Given the description of an element on the screen output the (x, y) to click on. 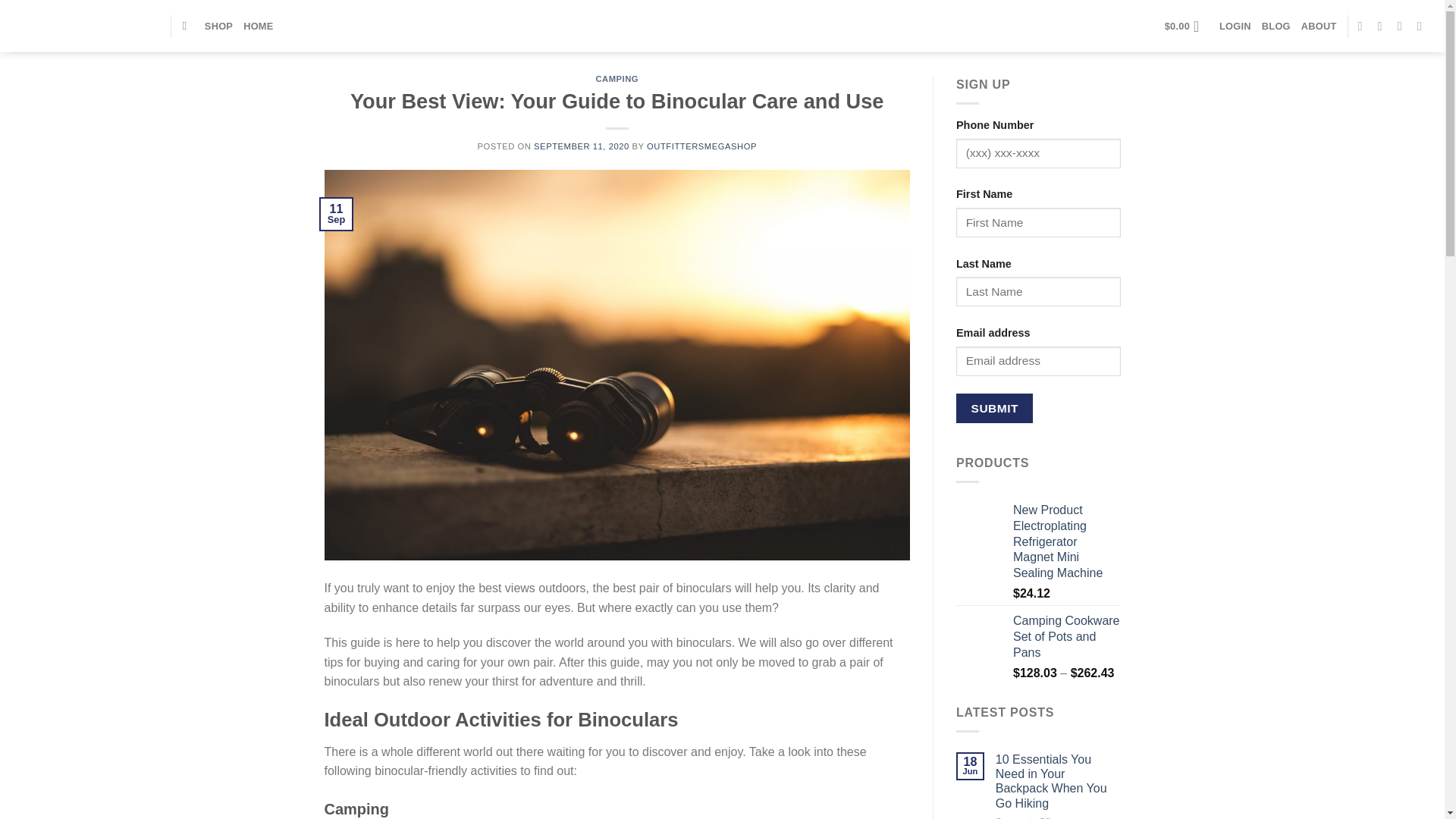
Submit (994, 408)
Follow on Twitter (1403, 25)
Follow on Facebook (1364, 25)
SEPTEMBER 11, 2020 (581, 145)
Submit (994, 408)
Follow on Instagram (1383, 25)
10 Essentials You Need in Your Backpack When You Go Hiking (1058, 781)
OUTFITTERSMEGASHOP (701, 145)
Cart (1186, 25)
Follow on LinkedIn (1422, 25)
Camping Cookware Set of Pots and Pans (1067, 636)
CAMPING (617, 78)
